Given the description of an element on the screen output the (x, y) to click on. 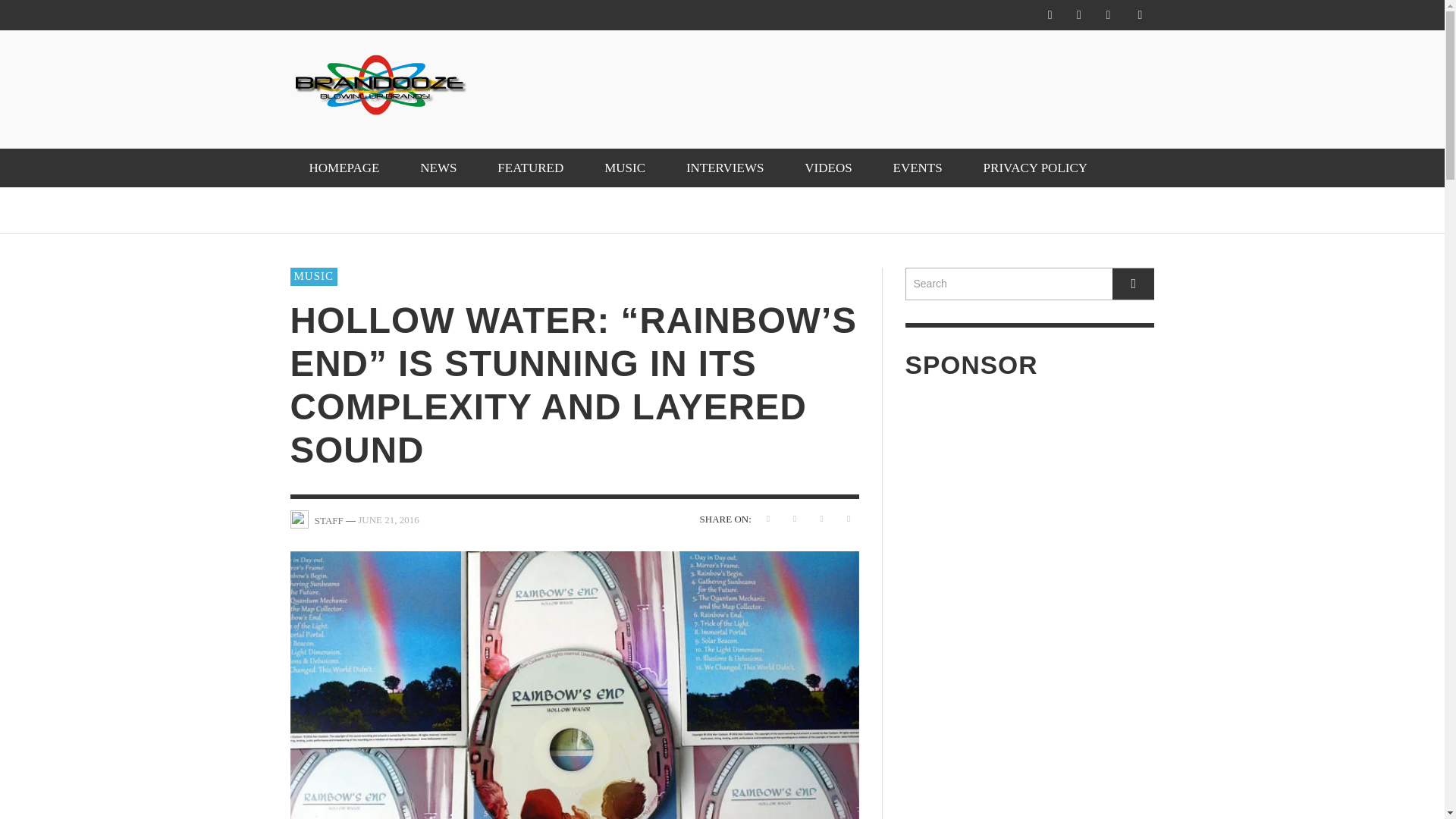
HOMEPAGE (343, 167)
NEWS (438, 167)
Twitter (1107, 15)
MUSIC (624, 167)
Search (1029, 283)
Facebook (1049, 15)
FEATURED (530, 167)
